Given the description of an element on the screen output the (x, y) to click on. 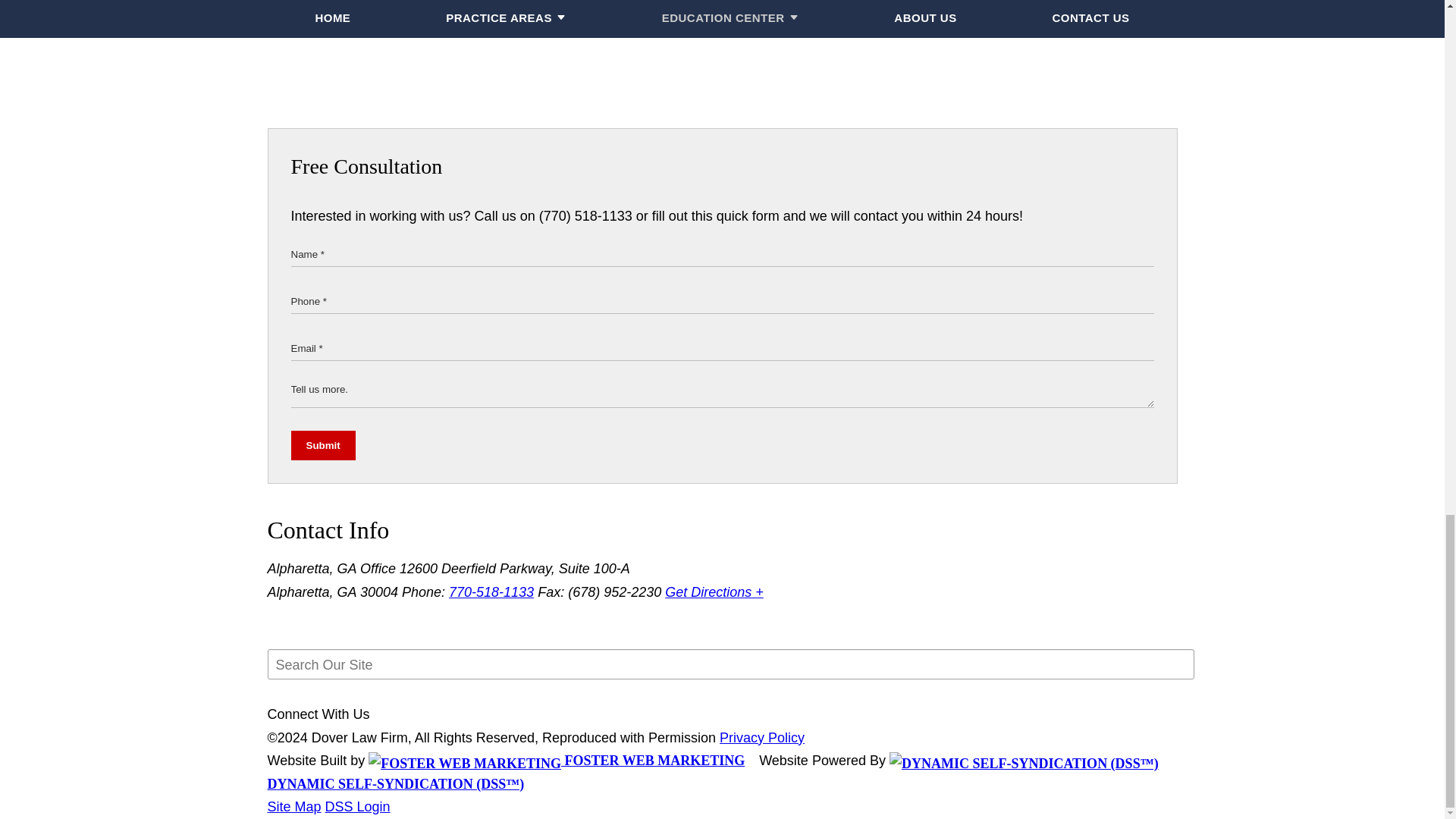
770-518-1133 (491, 591)
Privacy Policy (762, 737)
Submit (323, 445)
FOSTER WEB MARKETING (556, 760)
